Given the description of an element on the screen output the (x, y) to click on. 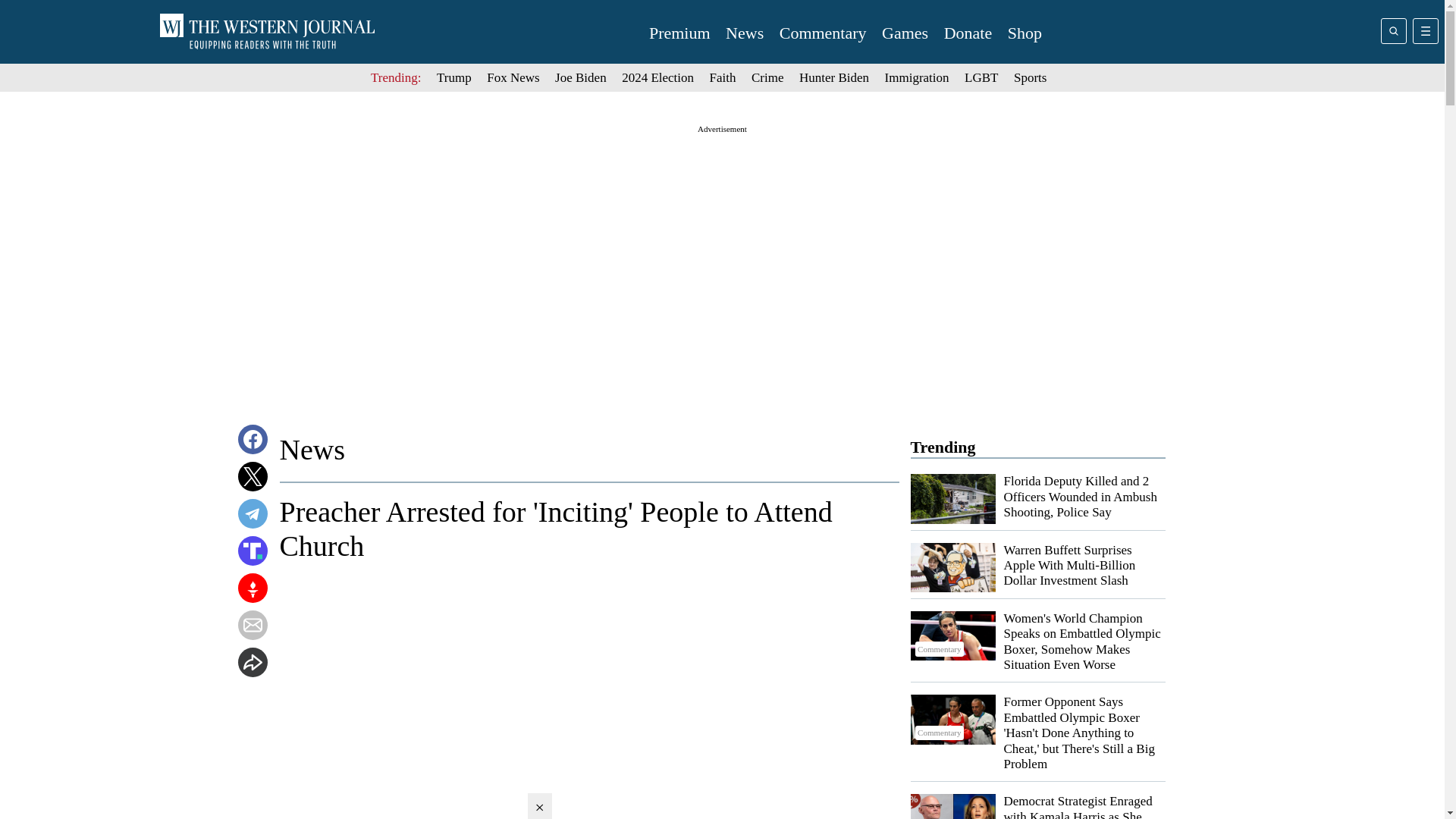
Hunter Biden (834, 77)
Premium (679, 32)
LGBT (980, 77)
Commentary (952, 635)
News (743, 32)
Commentary (952, 719)
Faith (723, 77)
Commentary (822, 32)
